Given the description of an element on the screen output the (x, y) to click on. 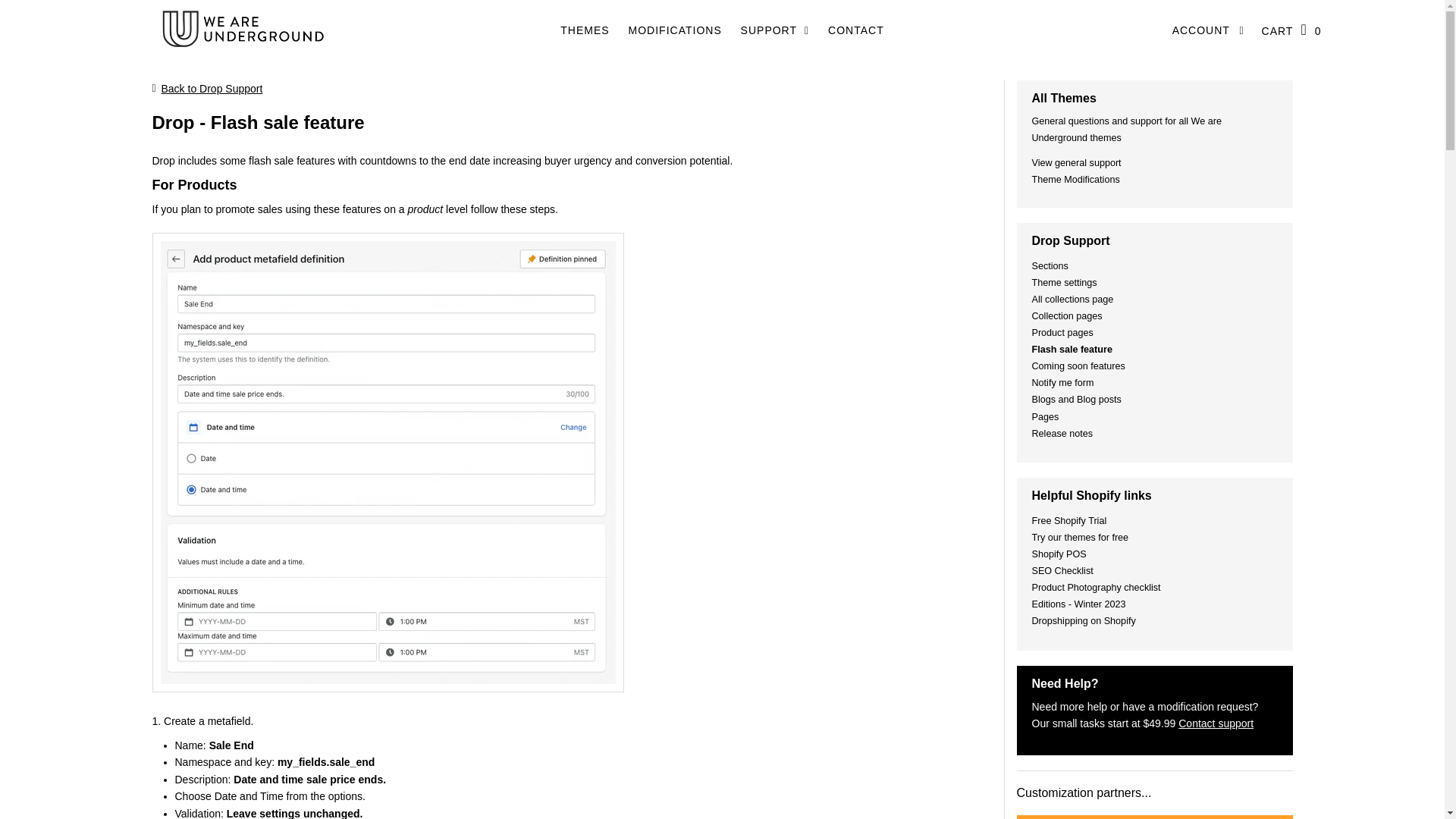
MODIFICATIONS (675, 30)
SUPPORT (774, 30)
THEMES (584, 30)
